Given the description of an element on the screen output the (x, y) to click on. 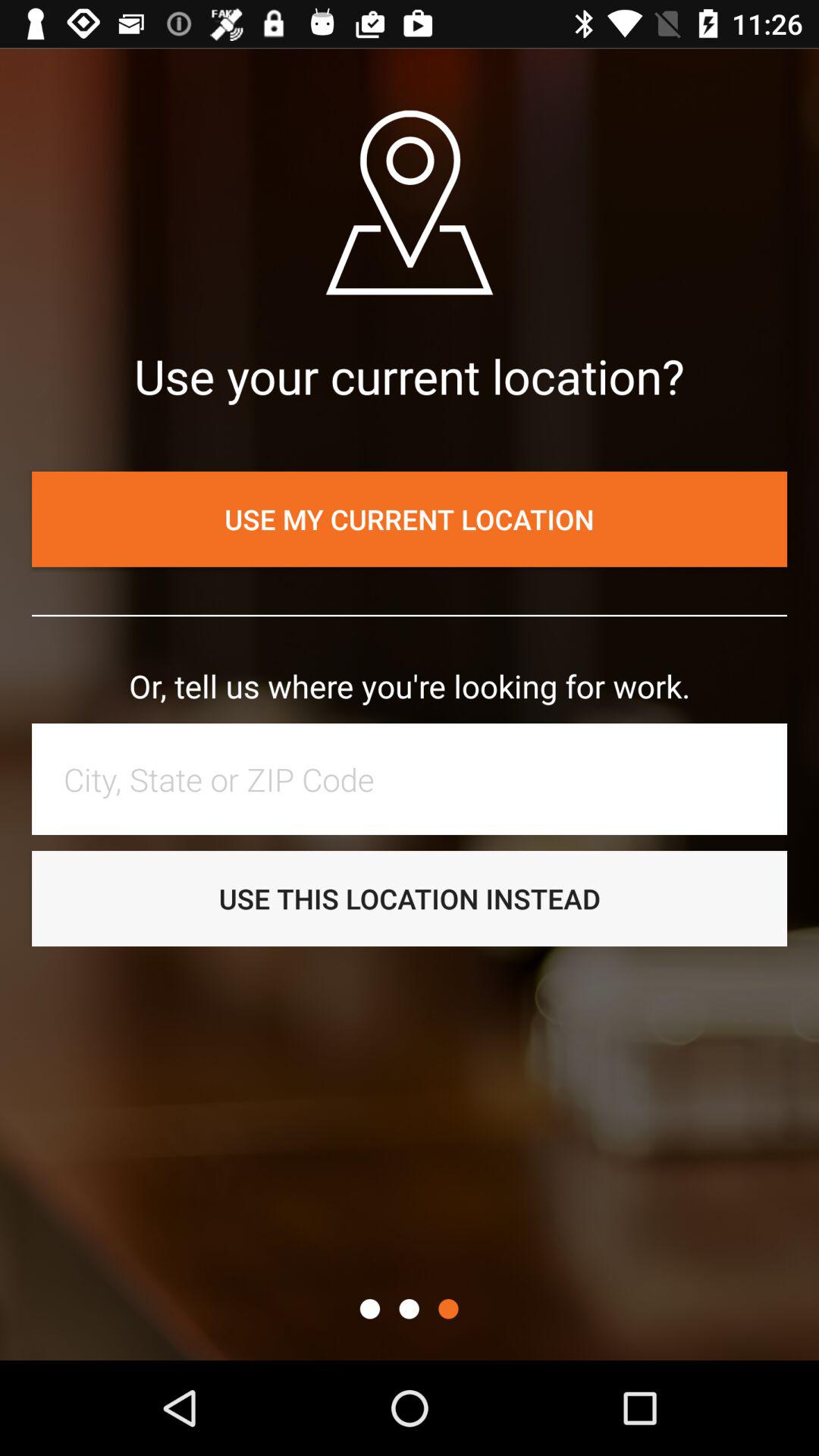
page navigation indicator (409, 1308)
